Given the description of an element on the screen output the (x, y) to click on. 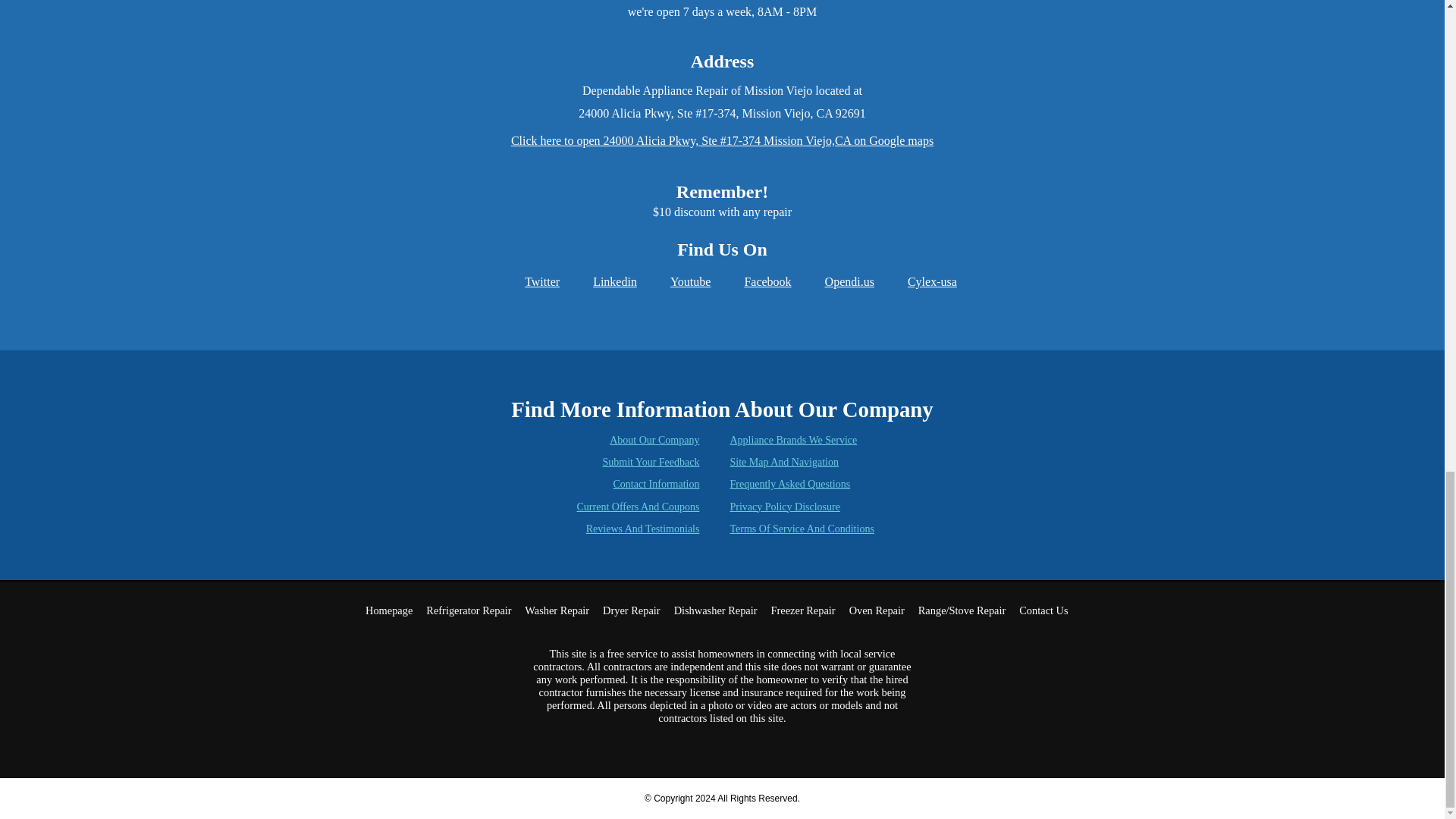
Cylex-usa (922, 281)
Reviews And Testimonials (643, 528)
Current Offers And Coupons (638, 506)
Opendi.us (840, 281)
Facebook (757, 281)
Site Map And Navigation (783, 461)
Appliance Brands We Service (793, 439)
Linkedin (606, 281)
Submit Your Feedback (650, 461)
Contact Information (656, 483)
About Our Company (654, 439)
Youtube (681, 281)
Twitter (532, 281)
